Given the description of an element on the screen output the (x, y) to click on. 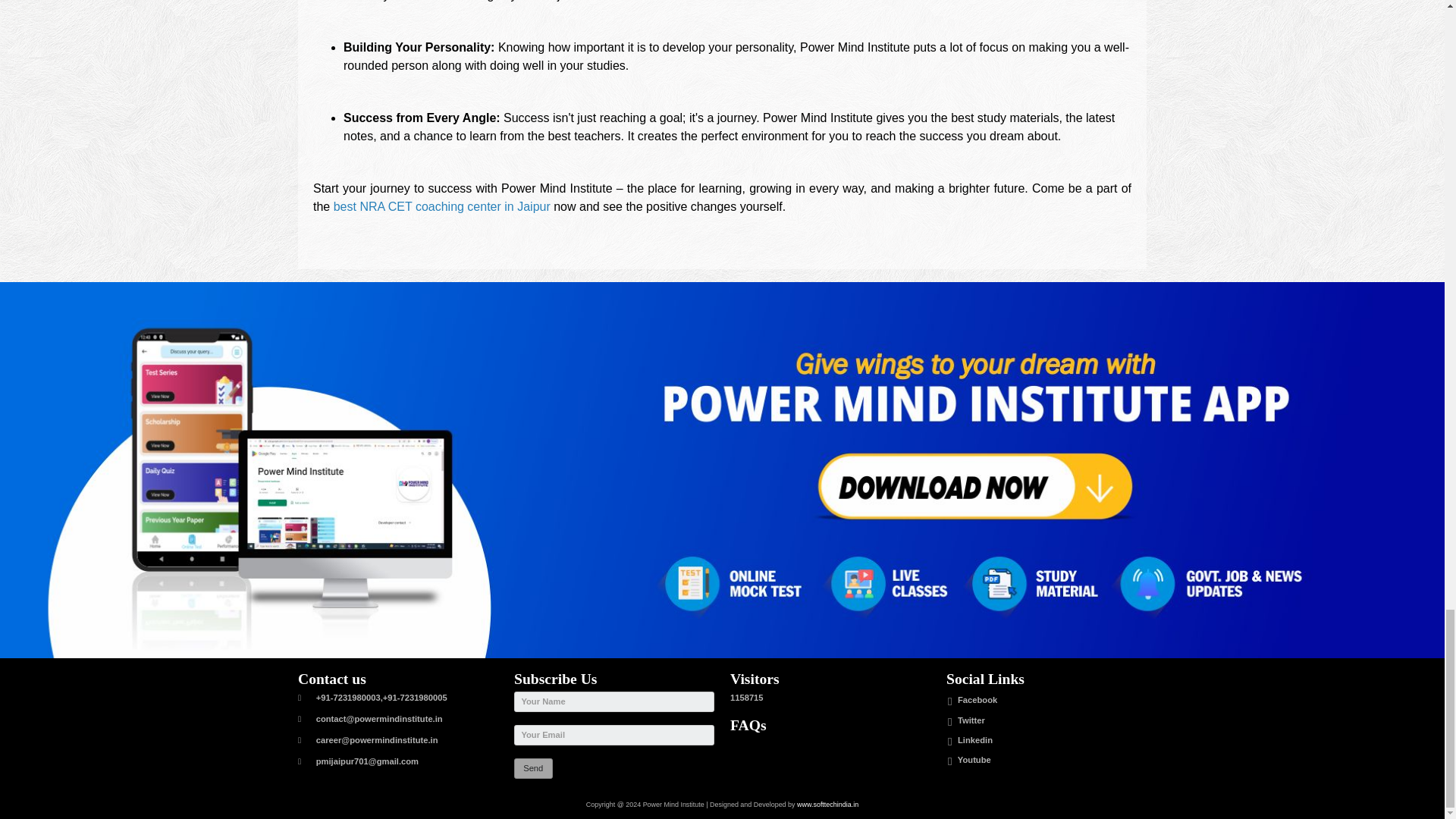
Send (533, 768)
